Given the description of an element on the screen output the (x, y) to click on. 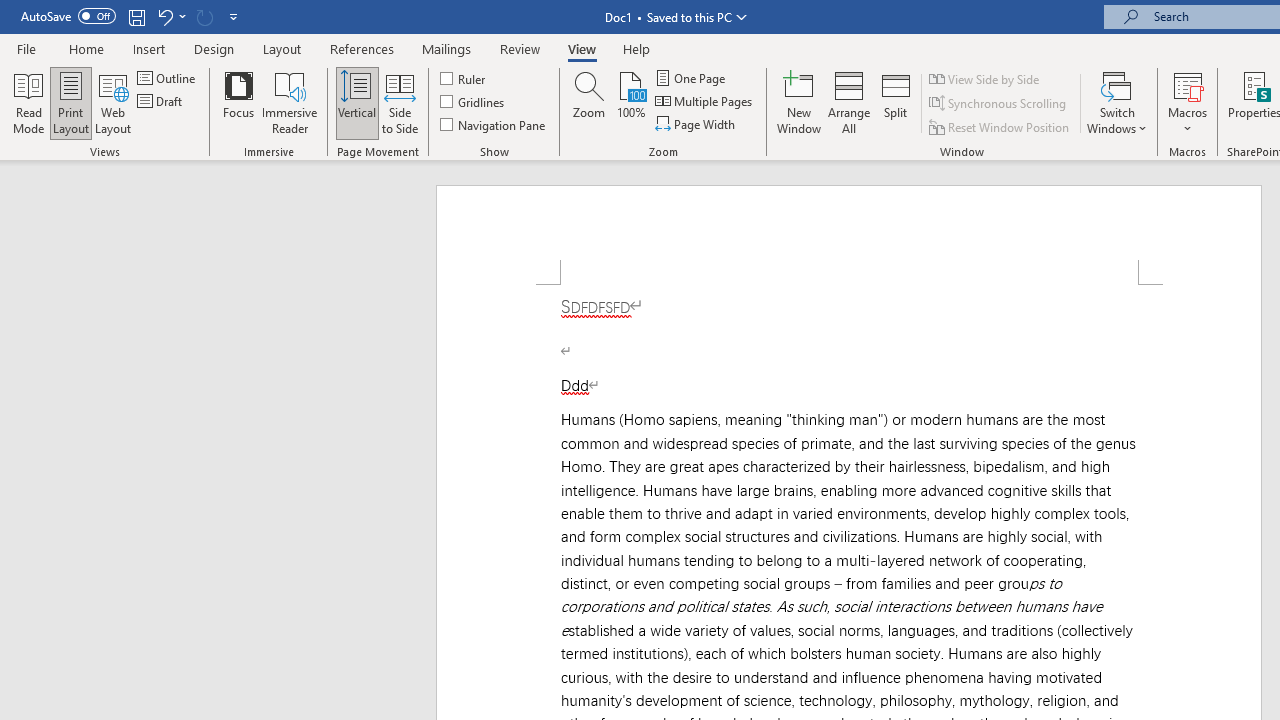
Web Layout (113, 102)
Customize Quick Access Toolbar (234, 15)
Review (520, 48)
Side to Side (399, 102)
Vertical (356, 102)
File Tab (26, 48)
Can't Repeat (204, 15)
More Options (1187, 121)
View Side by Side (985, 78)
Home (86, 48)
Focus (238, 102)
System (10, 11)
View Macros (1187, 84)
Synchronous Scrolling (998, 103)
Save (136, 15)
